Given the description of an element on the screen output the (x, y) to click on. 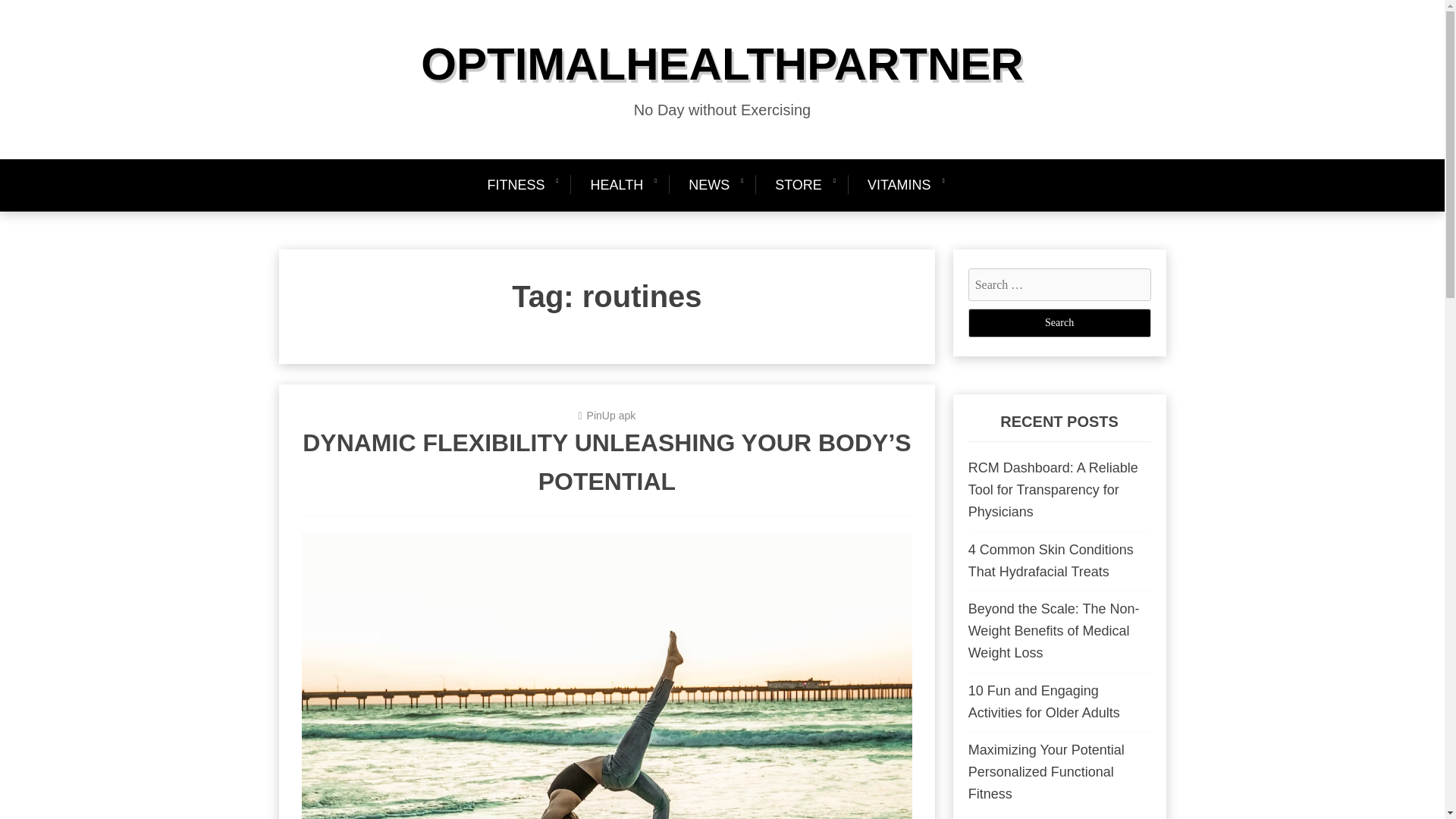
4 Common Skin Conditions That Hydrafacial Treats (1051, 560)
PinUp apk (611, 415)
OPTIMALHEALTHPARTNER (721, 63)
FITNESS (522, 184)
STORE (798, 184)
VITAMINS (898, 184)
Search (1059, 322)
NEWS (708, 184)
